Given the description of an element on the screen output the (x, y) to click on. 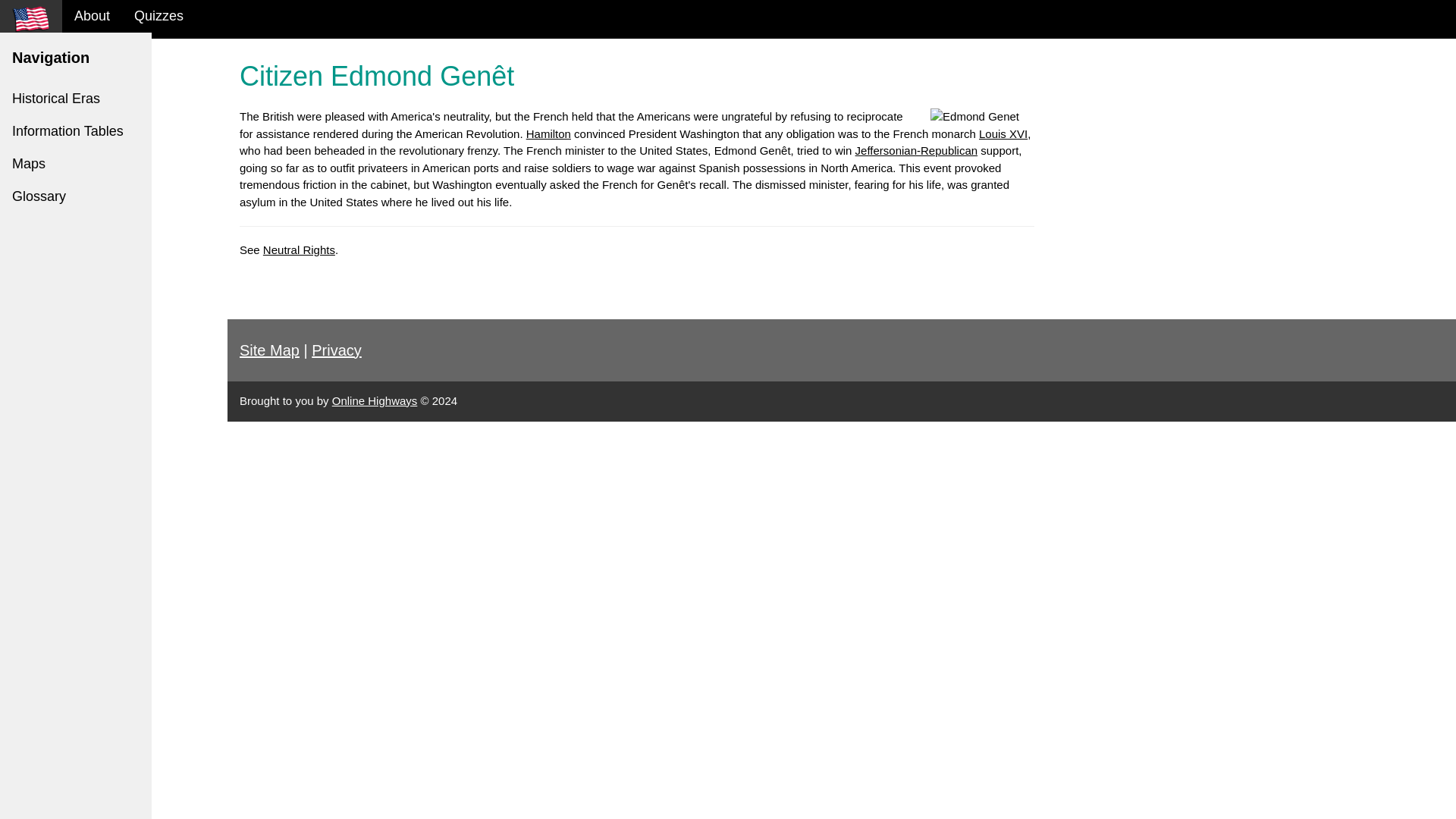
Historical Eras (75, 98)
Maps (75, 164)
About (92, 16)
Glossary (75, 196)
Privacy (336, 350)
Neutral Rights (298, 249)
Hamilton (547, 133)
Online Highways (374, 400)
Quizzes (158, 16)
Jeffersonian-Republican (917, 150)
Site Map (269, 350)
Louis XVI (1002, 133)
Information Tables (75, 131)
